Given the description of an element on the screen output the (x, y) to click on. 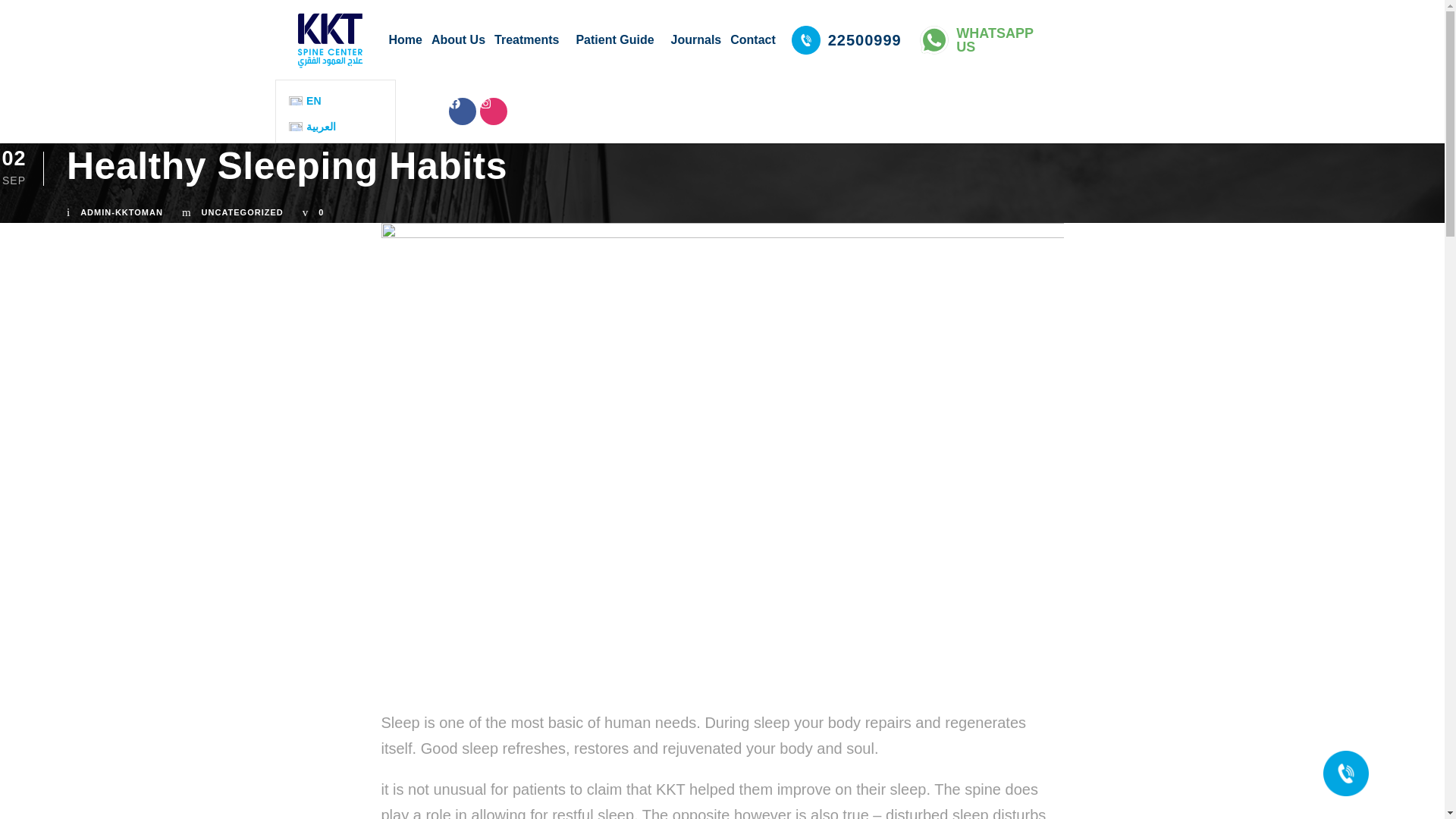
Contact (752, 40)
Posts by admin-kktoman (121, 212)
22500999 (846, 39)
Journals (696, 40)
ADMIN-KKTOMAN (121, 212)
About Us (457, 40)
Treatments (529, 40)
UNCATEGORIZED (242, 212)
WHATSAPP US (981, 39)
